Given the description of an element on the screen output the (x, y) to click on. 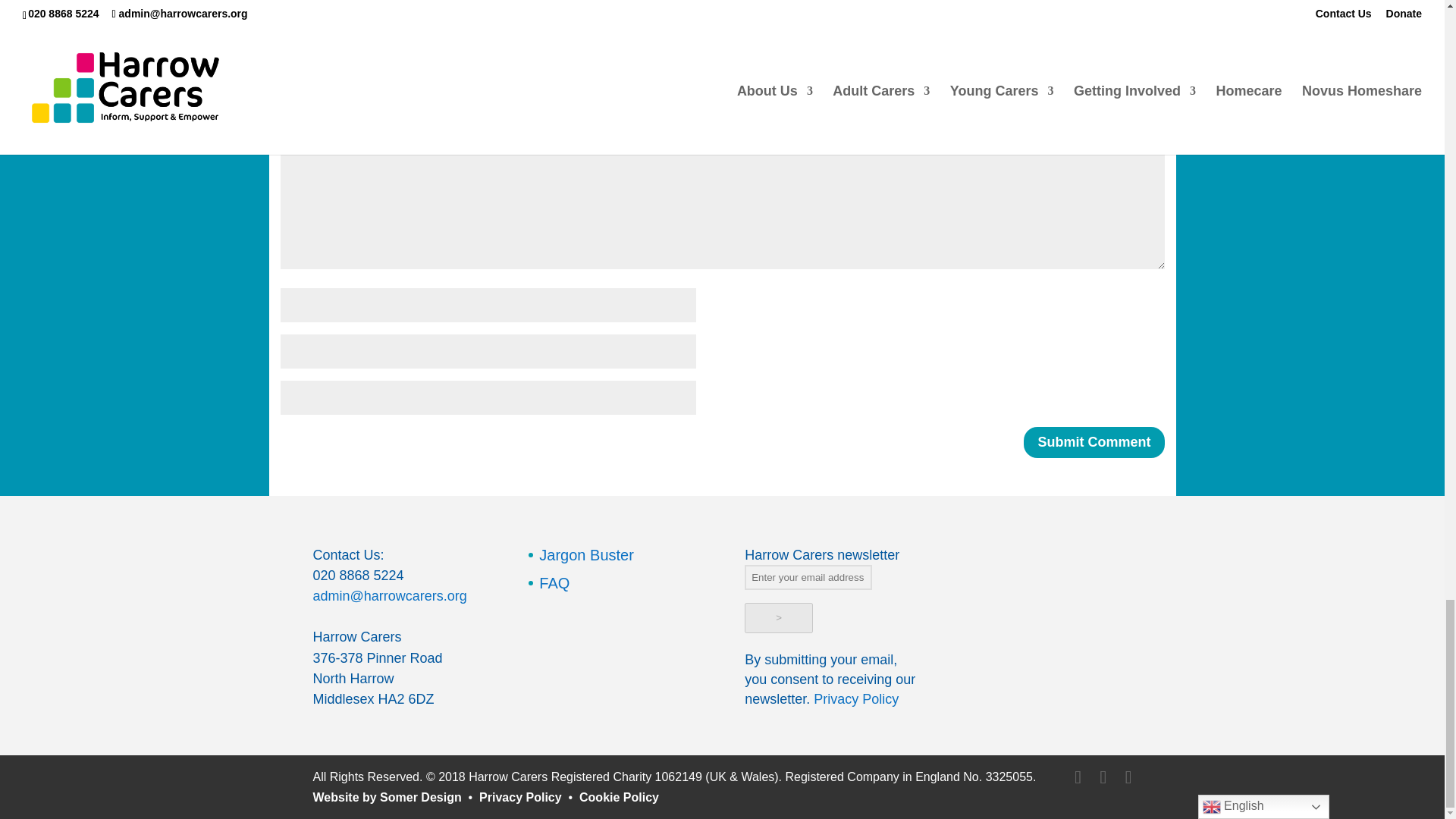
Submit Comment (1093, 441)
